Given the description of an element on the screen output the (x, y) to click on. 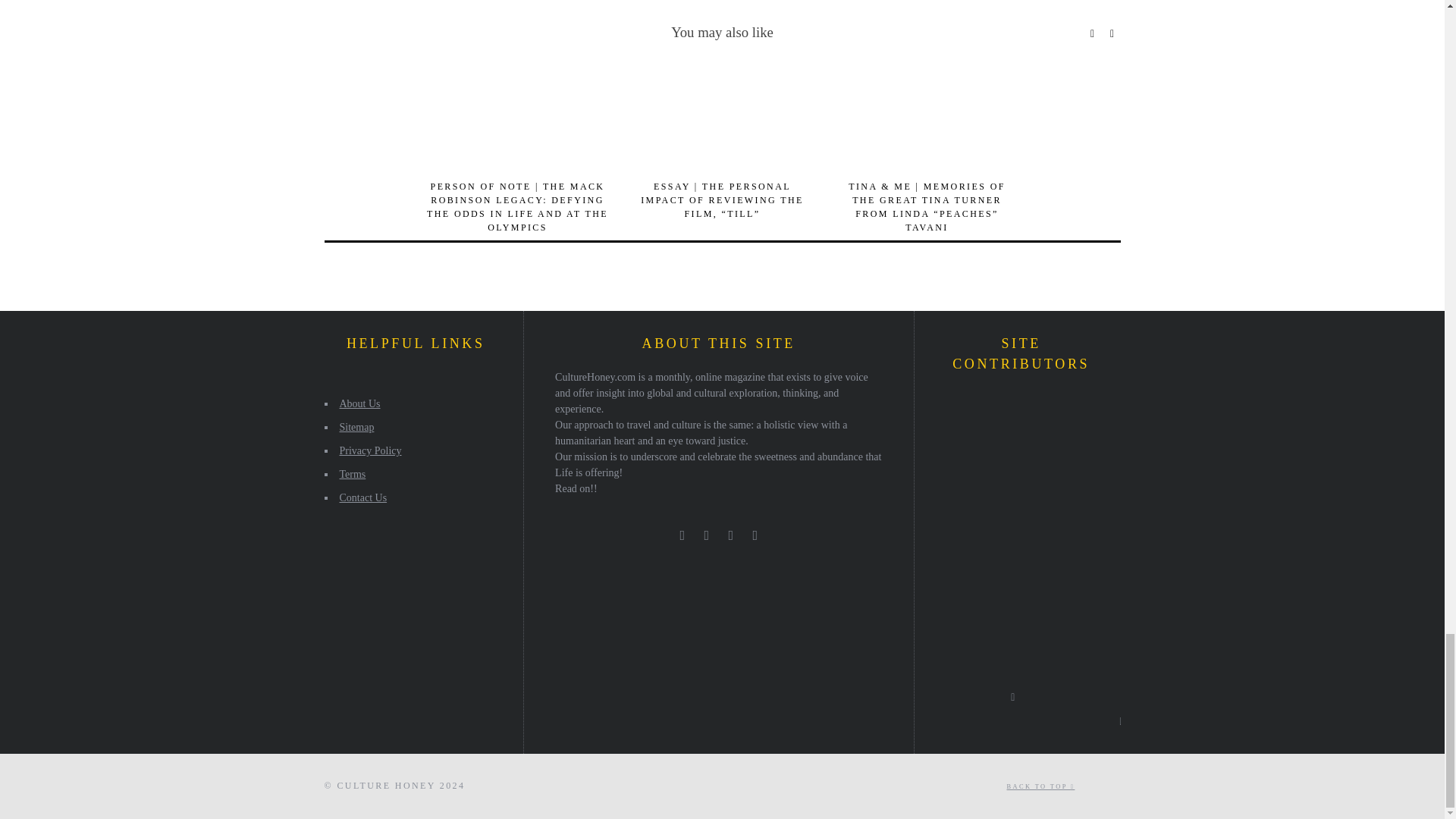
Aurore Rominger (950, 409)
Natalie Patterson (992, 493)
Eden Huma (1075, 493)
Ken Bower (1033, 493)
Brian Biery (1075, 451)
Jonathan Scott (1033, 451)
Esther O'Loughlin (950, 493)
James Farr (950, 535)
Julie Clark (992, 409)
Emily Greene (992, 451)
